Given the description of an element on the screen output the (x, y) to click on. 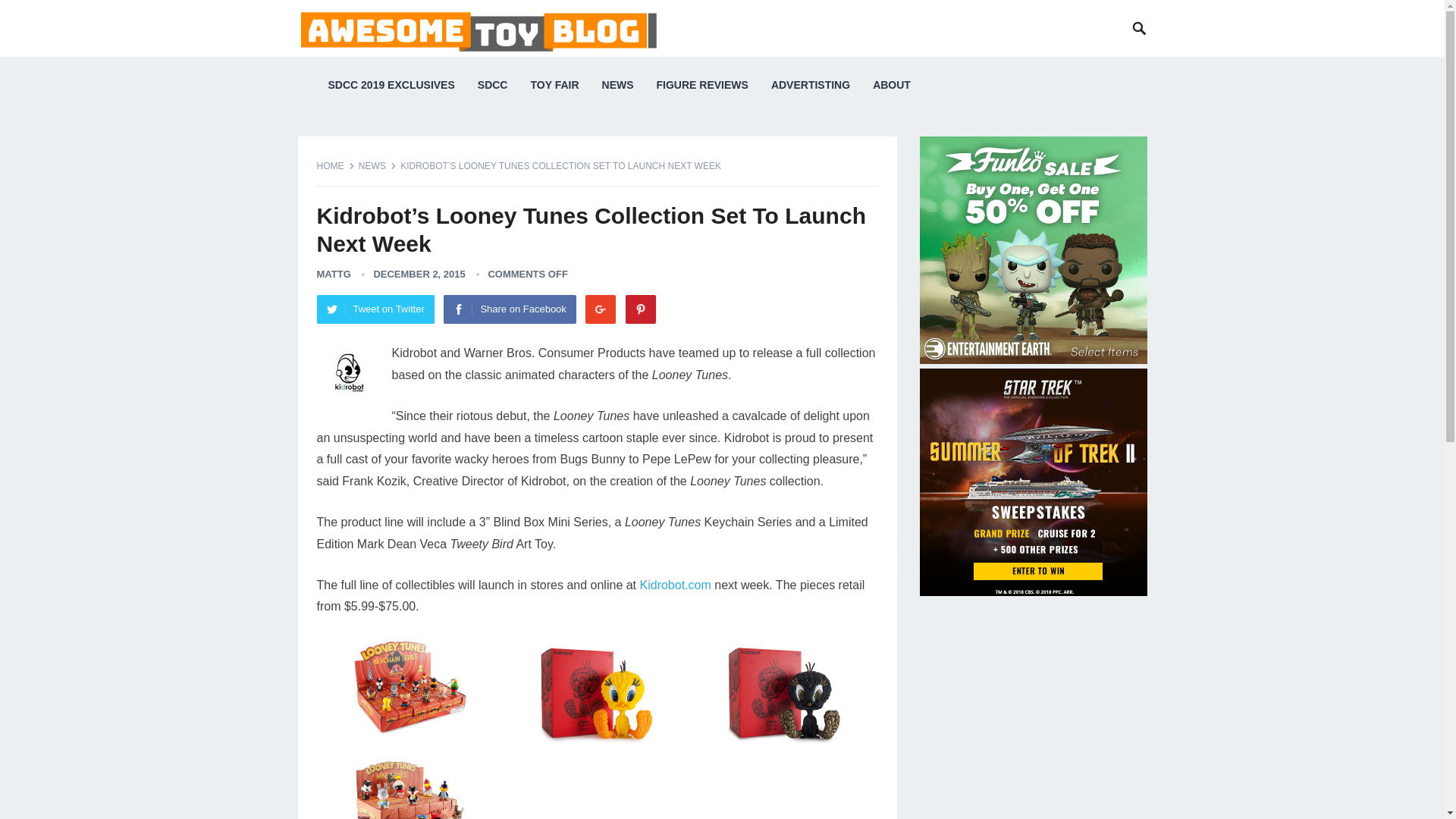
TOY FAIR (553, 84)
Share on Facebook (509, 308)
FIGURE REVIEWS (702, 84)
View all posts in News (377, 165)
SDCC 2019 EXCLUSIVES (391, 84)
Tweet on Twitter (375, 308)
MATTG (333, 274)
NEWS (377, 165)
HOME (336, 165)
Pinterest (641, 308)
